Given the description of an element on the screen output the (x, y) to click on. 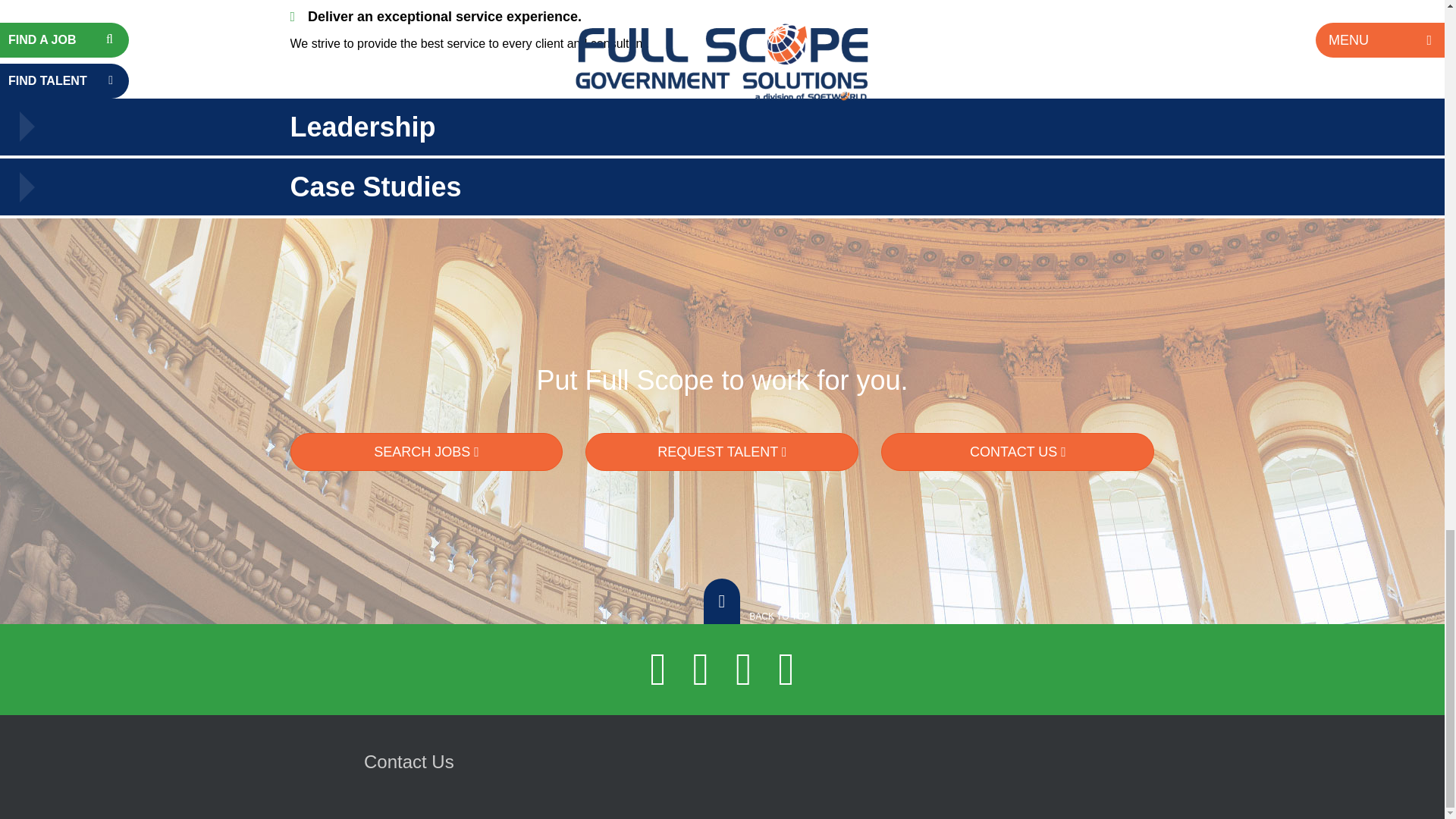
Leadership (722, 126)
SEARCH JOBS (425, 451)
Case Studies (722, 186)
